Given the description of an element on the screen output the (x, y) to click on. 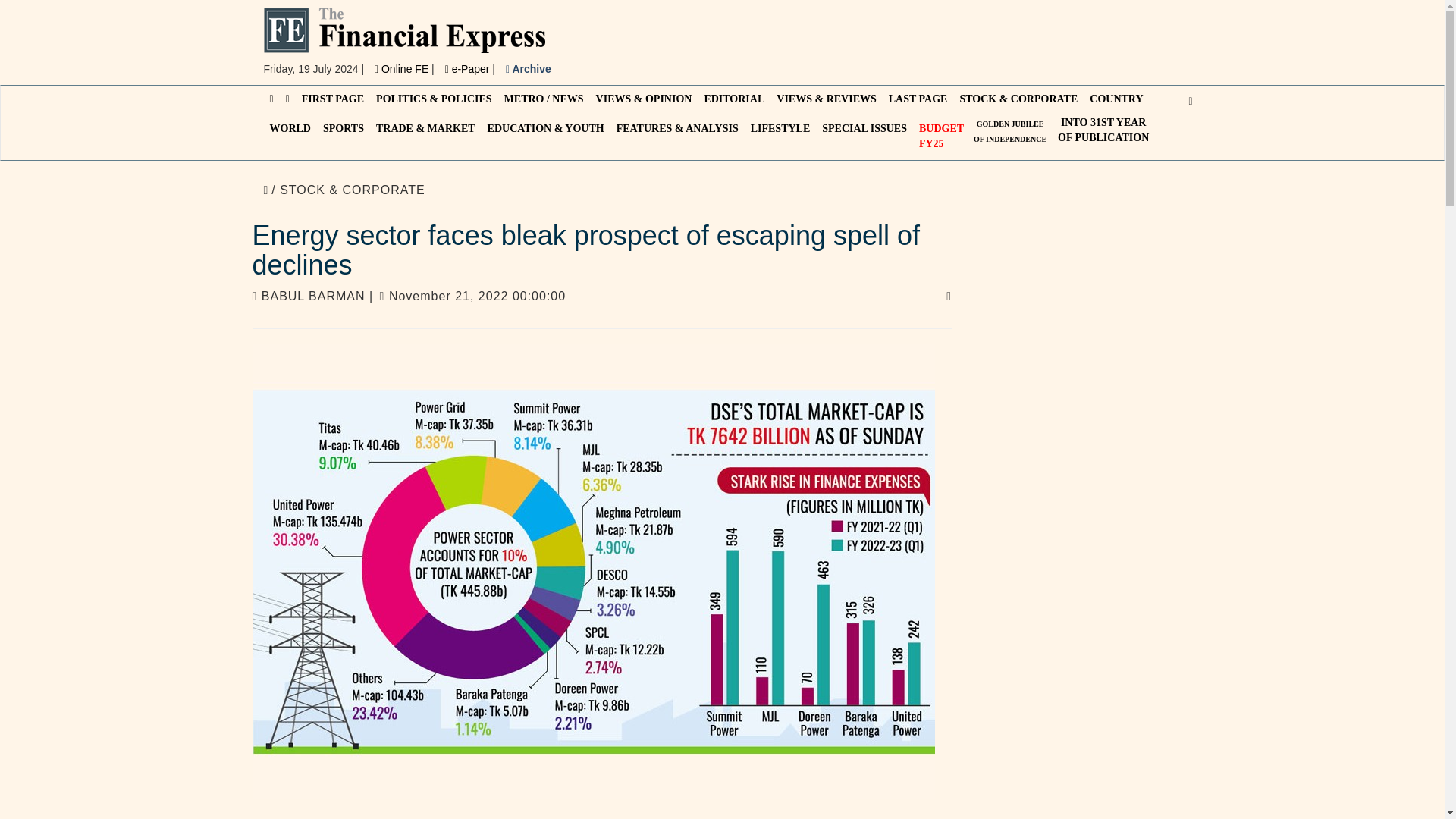
Archive (528, 69)
WORLD (290, 128)
EDITORIAL (733, 99)
SPORTS (343, 128)
LAST PAGE (917, 99)
SPECIAL ISSUES (1103, 130)
FIRST PAGE (1009, 131)
Online FE (863, 128)
e-Paper (940, 136)
COUNTRY (332, 99)
LIFESTYLE (402, 69)
Advertisement (469, 69)
